Given the description of an element on the screen output the (x, y) to click on. 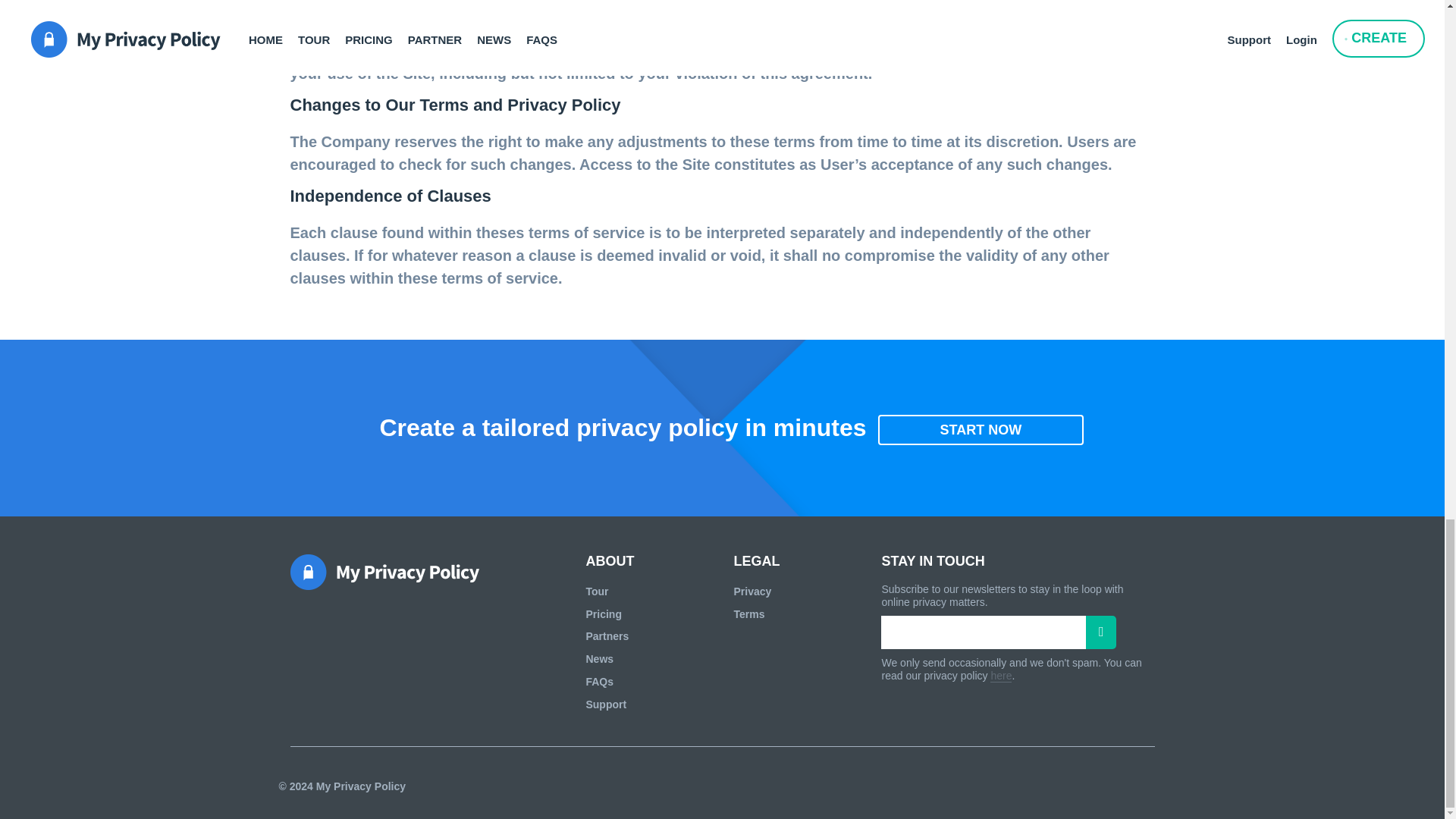
here (1000, 675)
Tour (596, 591)
News (598, 658)
Terms (748, 613)
Support (605, 704)
FAQs (598, 681)
START NOW (980, 429)
Privacy (752, 591)
Partners (606, 635)
Pricing (603, 613)
